Given the description of an element on the screen output the (x, y) to click on. 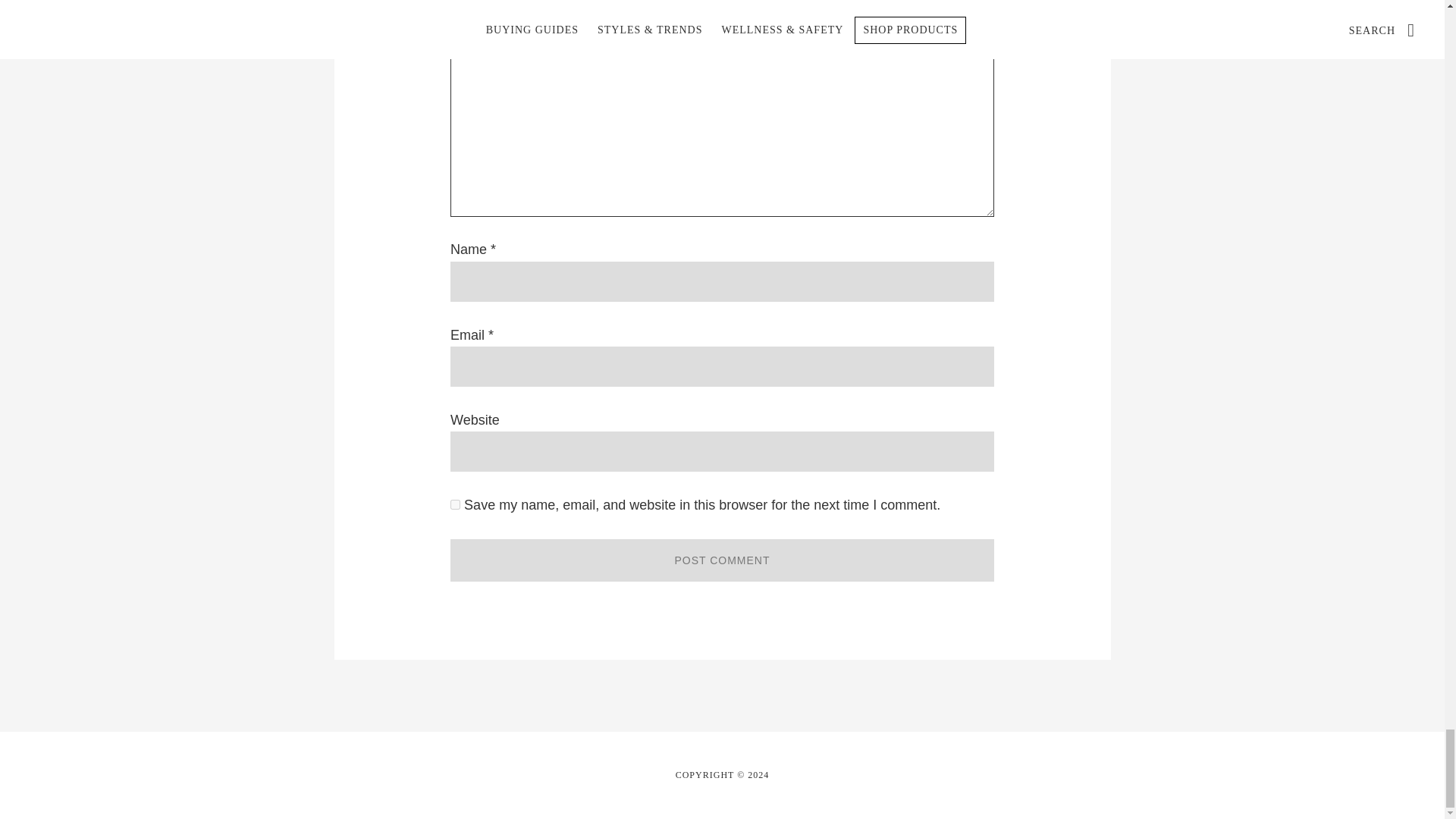
Post Comment (721, 559)
Post Comment (721, 559)
yes (454, 504)
